Given the description of an element on the screen output the (x, y) to click on. 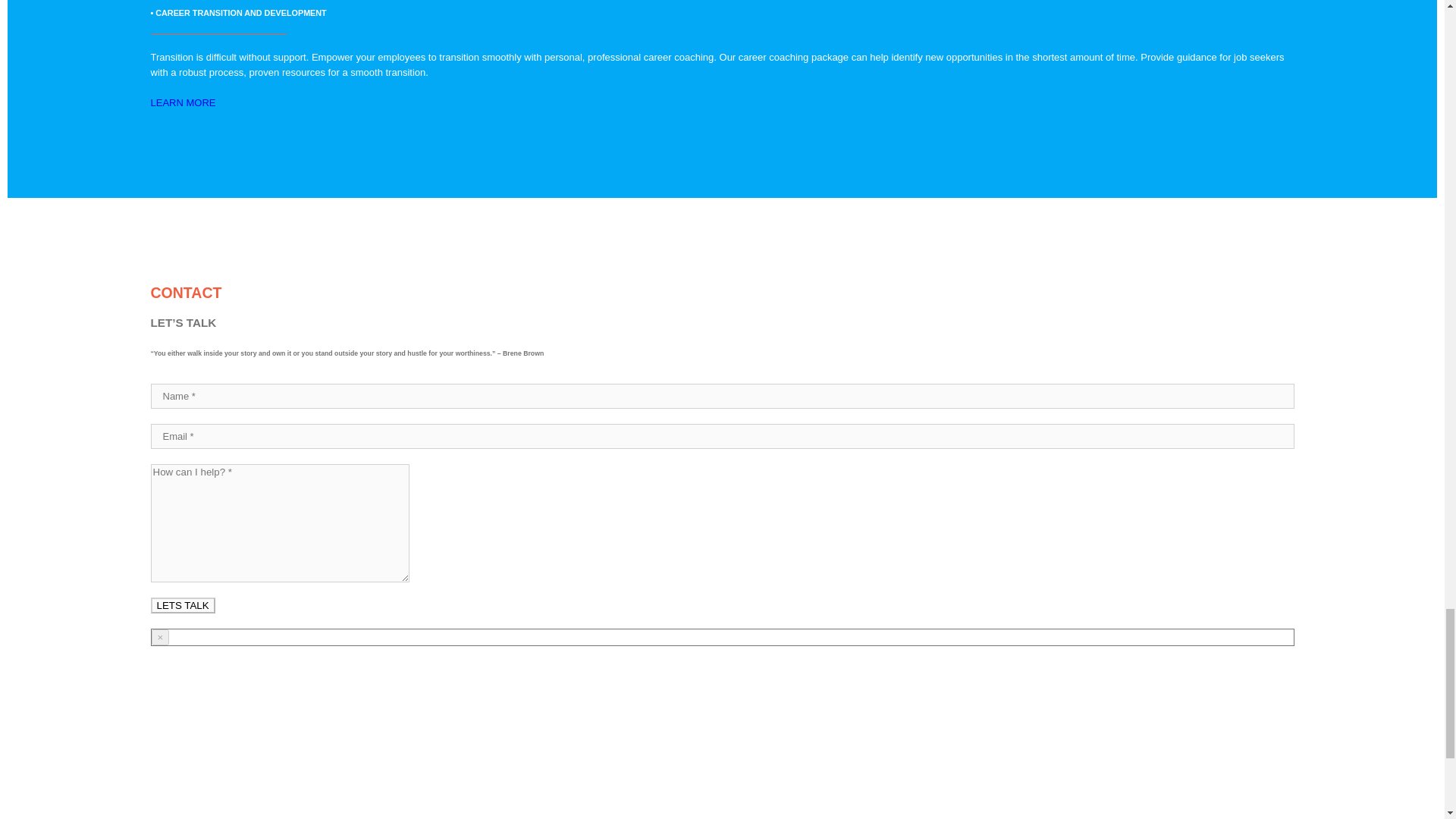
LETS TALK (181, 605)
LEARN MORE (182, 102)
LETS TALK (181, 605)
